Given the description of an element on the screen output the (x, y) to click on. 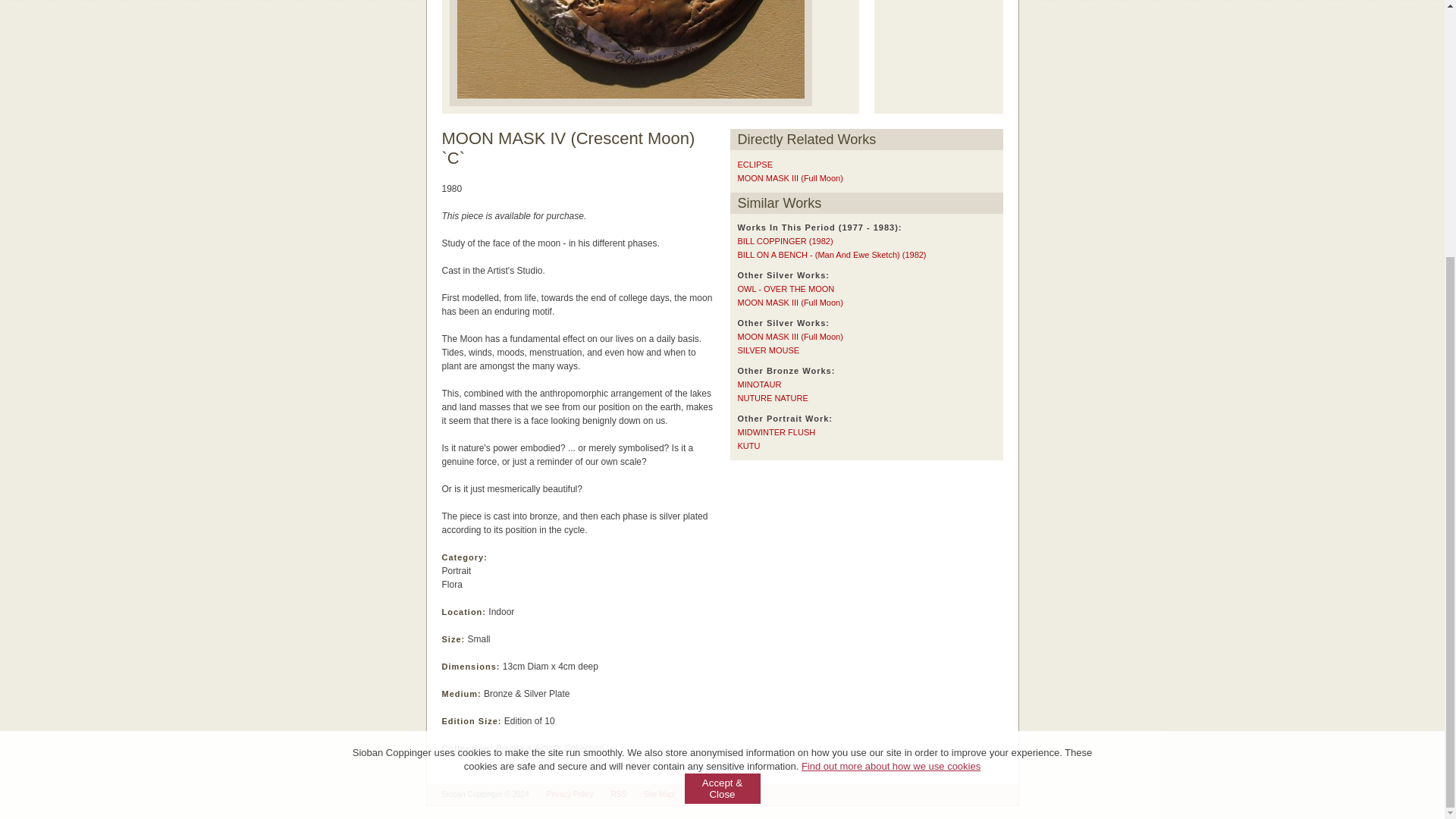
RSS (619, 794)
OWL - OVER THE MOON (785, 288)
Find out more about how we use cookies (890, 401)
KUTU (748, 445)
MIDWINTER FLUSH (775, 431)
SILVER MOUSE (767, 349)
MINOTAUR (758, 384)
ECLIPSE (753, 163)
Site Map (657, 794)
Privacy Policy (570, 794)
NUTURE NATURE (772, 397)
